Given the description of an element on the screen output the (x, y) to click on. 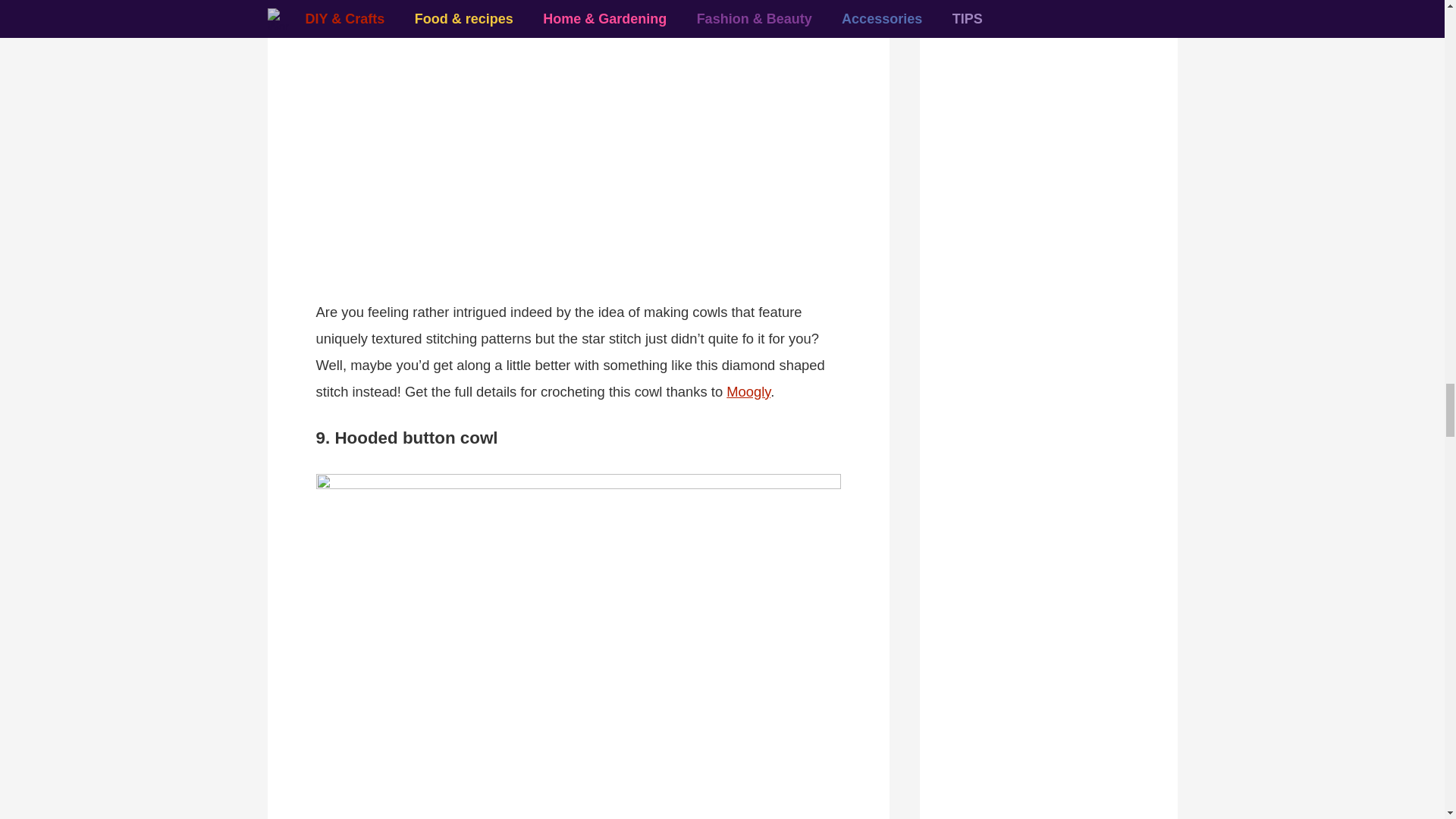
Moogly (748, 391)
